Given the description of an element on the screen output the (x, y) to click on. 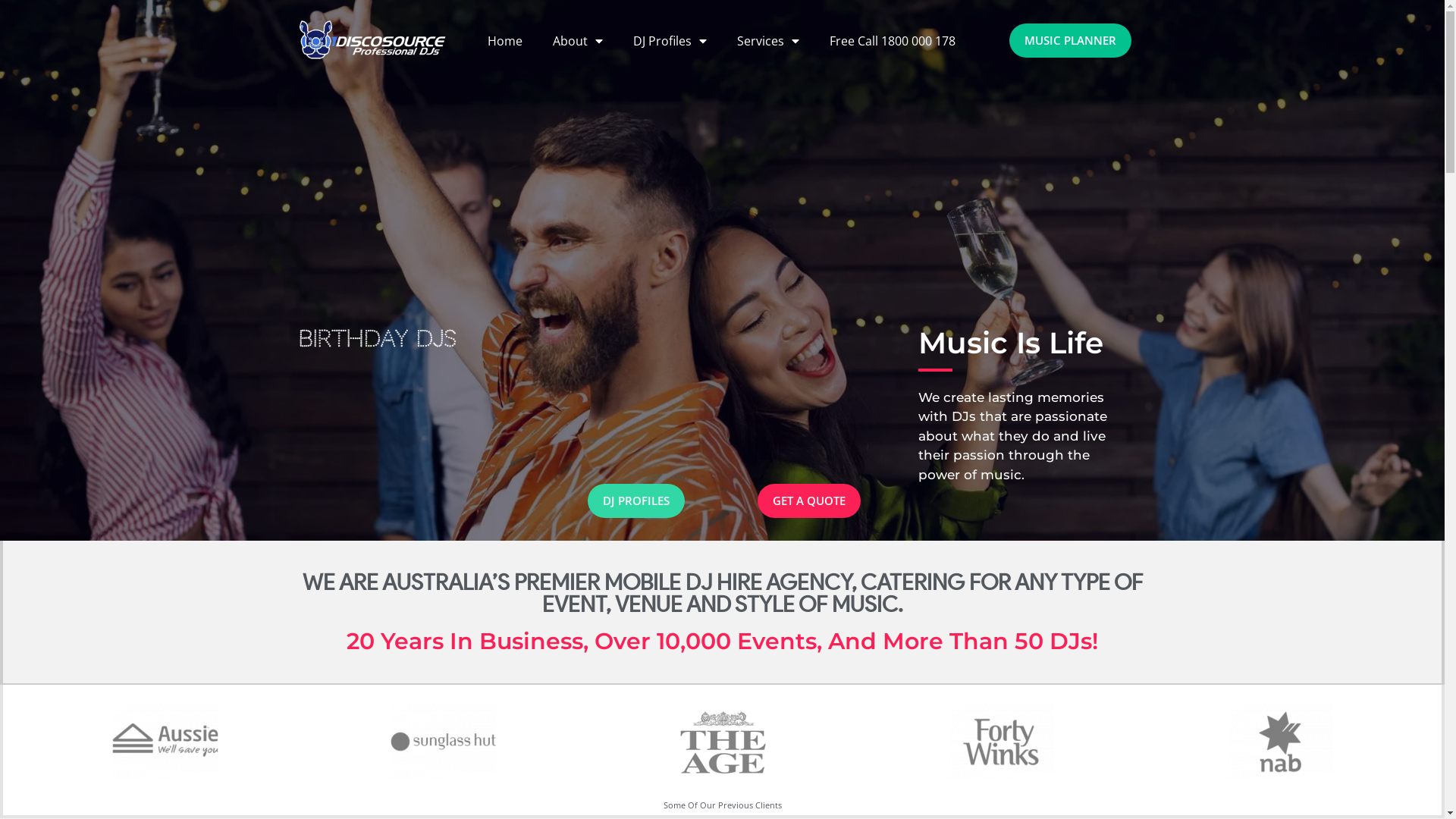
About Element type: text (577, 40)
Home Element type: text (504, 40)
MUSIC PLANNER Element type: text (1070, 40)
Services Element type: text (767, 40)
Free Call 1800 000 178 Element type: text (892, 40)
GET A QUOTE Element type: text (807, 500)
DJ Profiles Element type: text (669, 40)
DJ PROFILES Element type: text (635, 500)
